Given the description of an element on the screen output the (x, y) to click on. 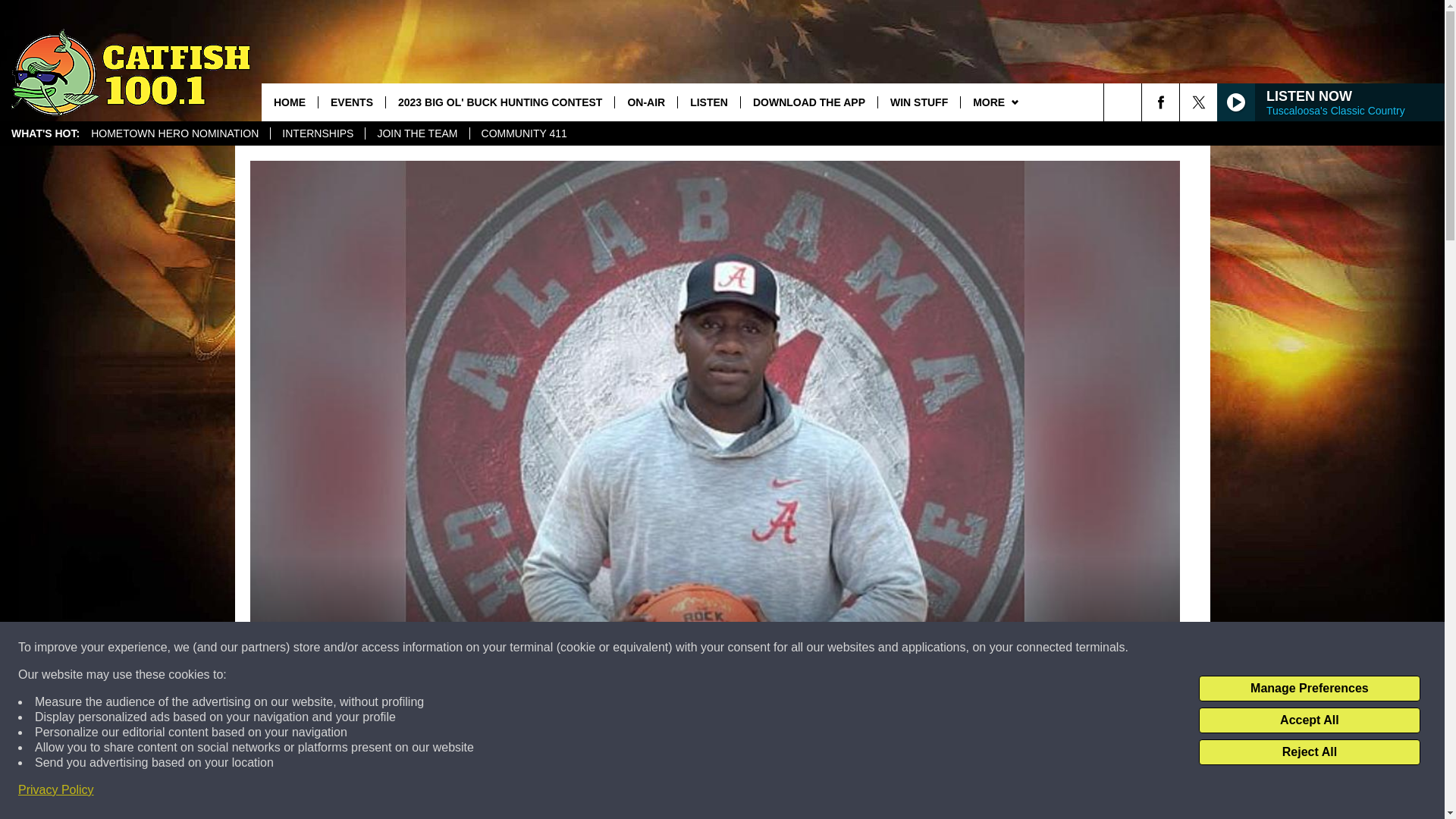
ON-AIR (645, 102)
Share on Twitter (912, 791)
Privacy Policy (55, 789)
INTERNSHIPS (317, 133)
LISTEN (708, 102)
COMMUNITY 411 (523, 133)
2023 BIG OL' BUCK HUNTING CONTEST (499, 102)
DOWNLOAD THE APP (808, 102)
JOIN THE TEAM (416, 133)
HOME (289, 102)
Manage Preferences (1309, 688)
Accept All (1309, 720)
HOMETOWN HERO NOMINATION (174, 133)
Reject All (1309, 751)
WIN STUFF (918, 102)
